Given the description of an element on the screen output the (x, y) to click on. 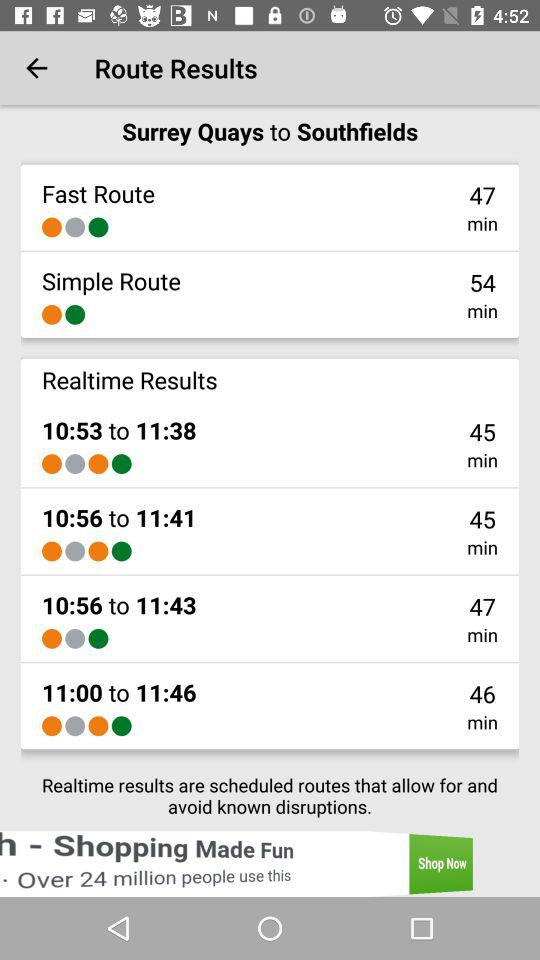
launch item below 10 56 to icon (75, 638)
